Given the description of an element on the screen output the (x, y) to click on. 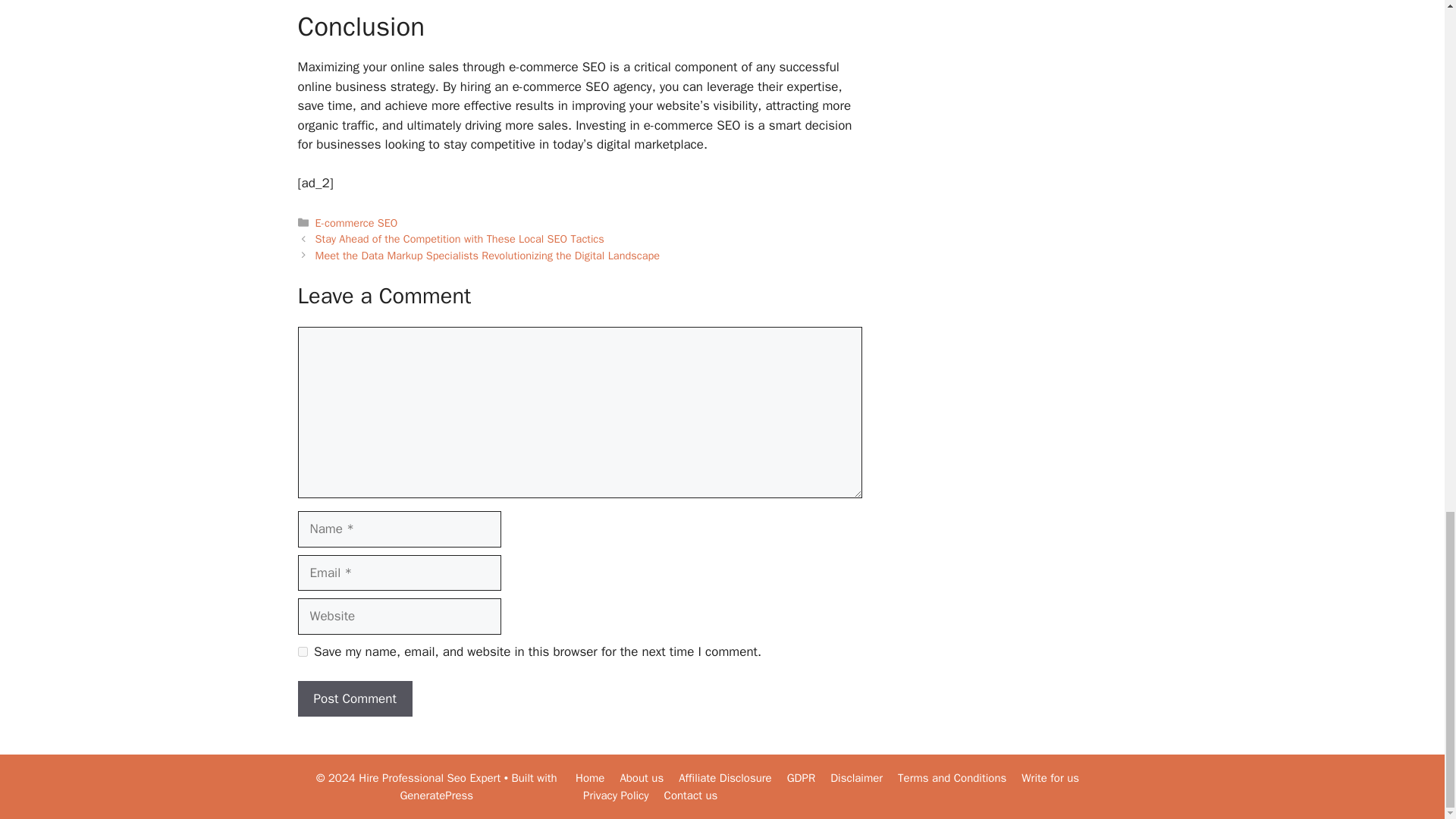
Stay Ahead of the Competition with These Local SEO Tactics (459, 238)
Post Comment (354, 698)
Disclaimer (855, 777)
GeneratePress (435, 795)
Contact us (690, 795)
yes (302, 651)
GDPR (801, 777)
Privacy Policy (616, 795)
E-commerce SEO (356, 223)
Home (589, 777)
Post Comment (354, 698)
Write for us (1050, 777)
Terms and Conditions (952, 777)
About us (641, 777)
